Given the description of an element on the screen output the (x, y) to click on. 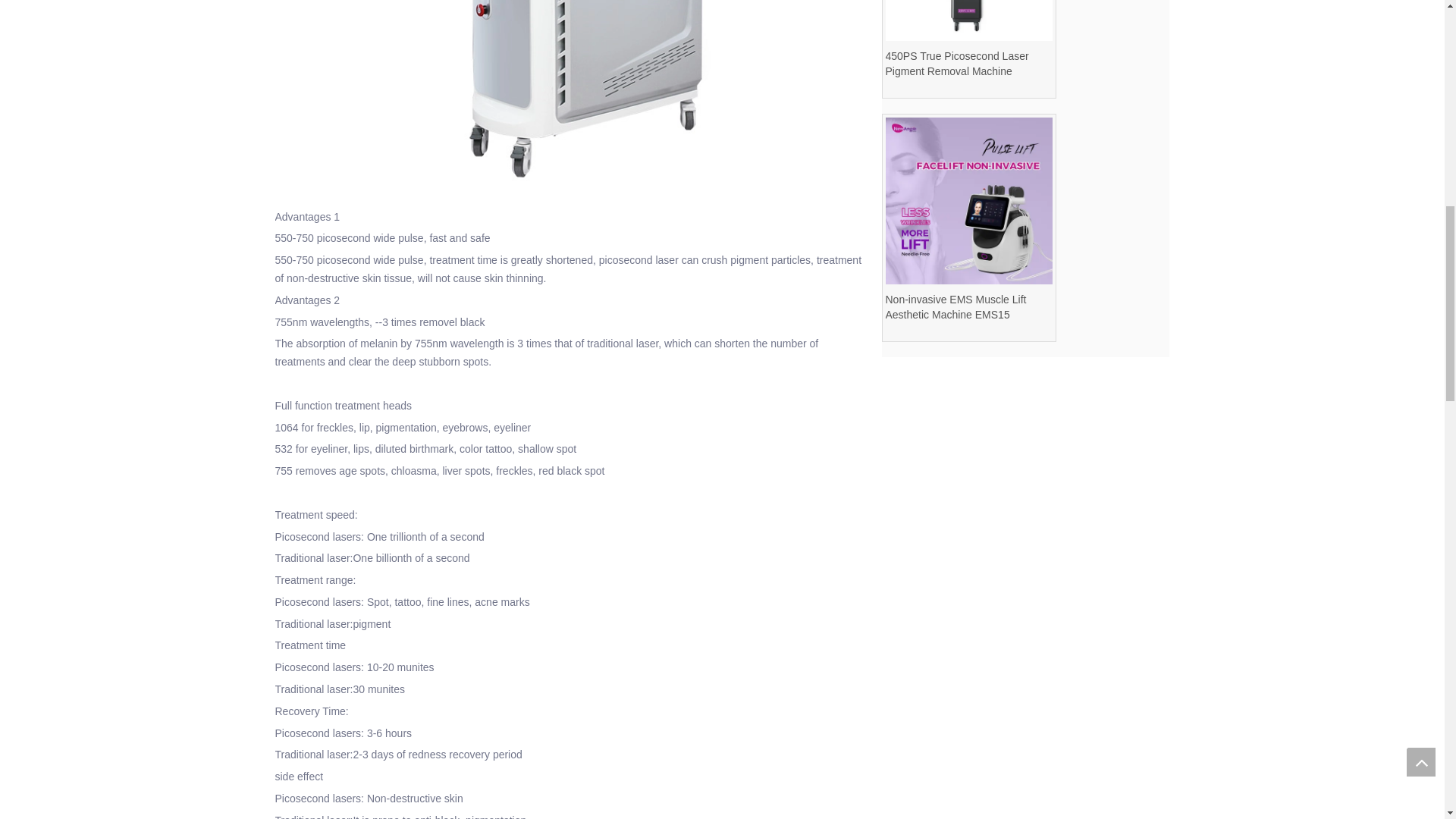
Non-invasive EMS Muscle Lift Aesthetic Machine EMS15 (968, 306)
450PS True Picosecond Laser Pigment Removal Machine  (968, 63)
q switch laser tattoo removal machine (570, 99)
Non-invasive EMS Muscle Lift Aesthetic Machine EMS15 (968, 200)
